Given the description of an element on the screen output the (x, y) to click on. 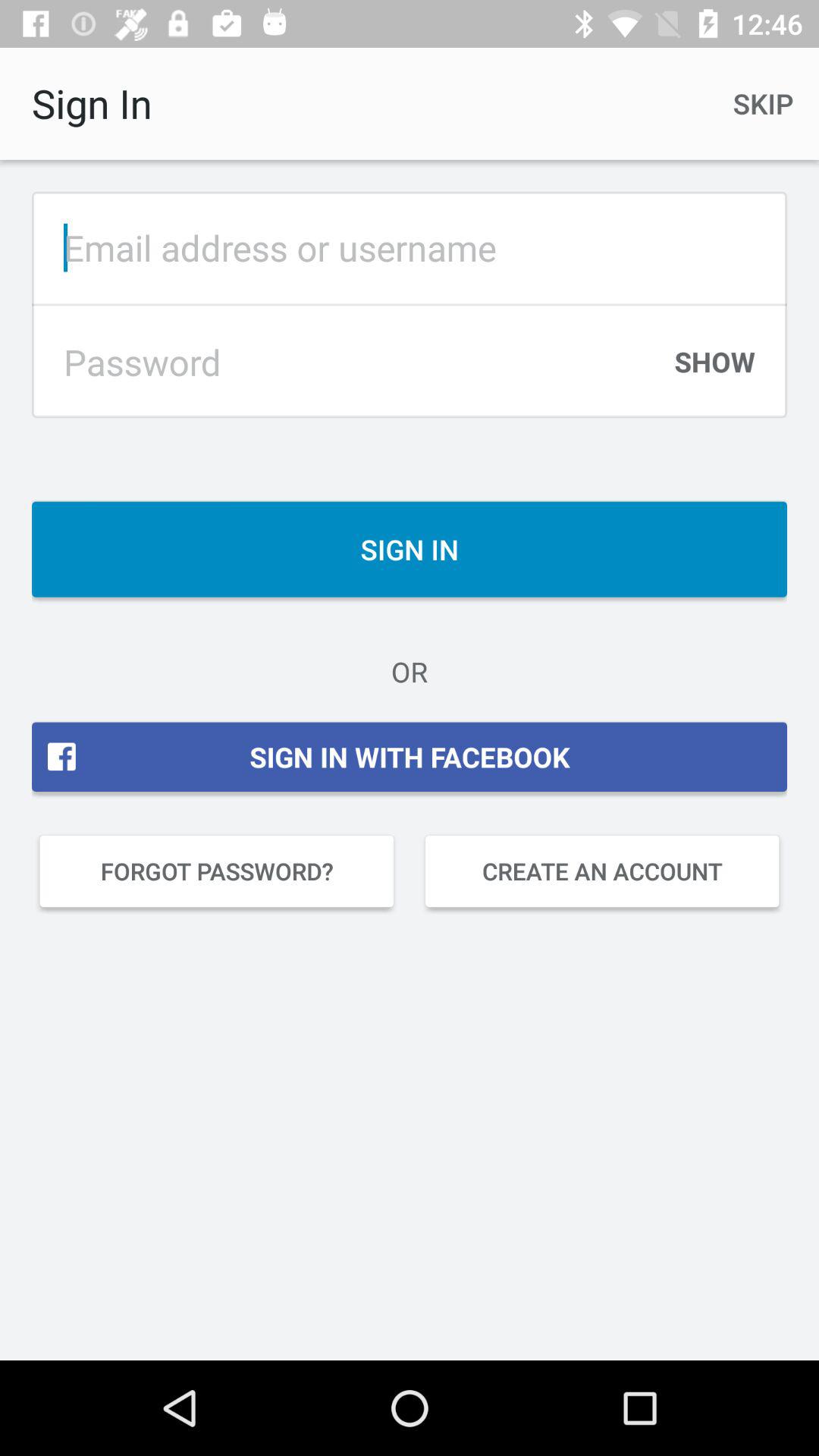
scroll until show (714, 369)
